Given the description of an element on the screen output the (x, y) to click on. 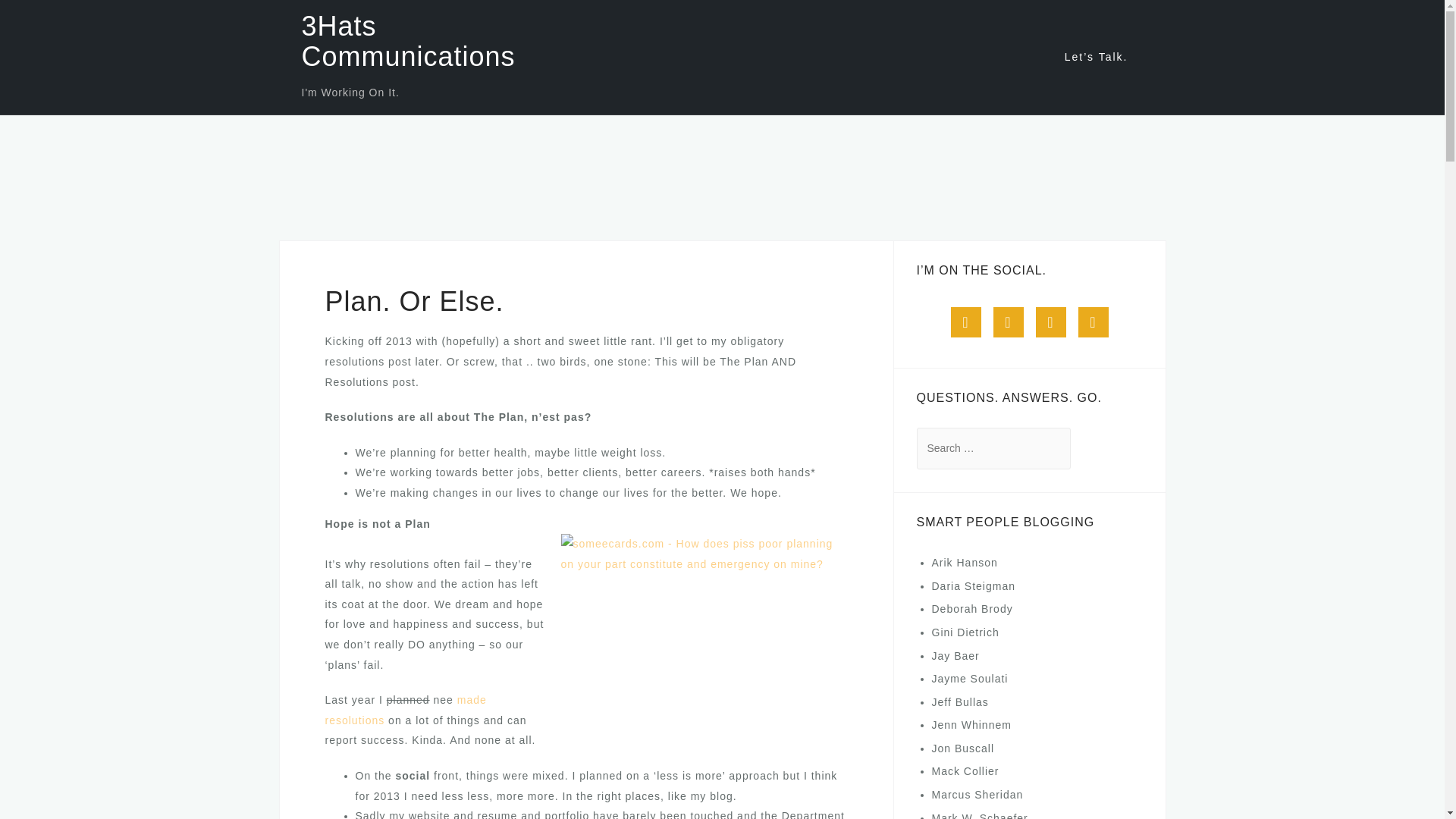
LinkedIn (1007, 322)
3Hats Communications (408, 41)
Twitter (965, 322)
made resolutions (405, 709)
